Given the description of an element on the screen output the (x, y) to click on. 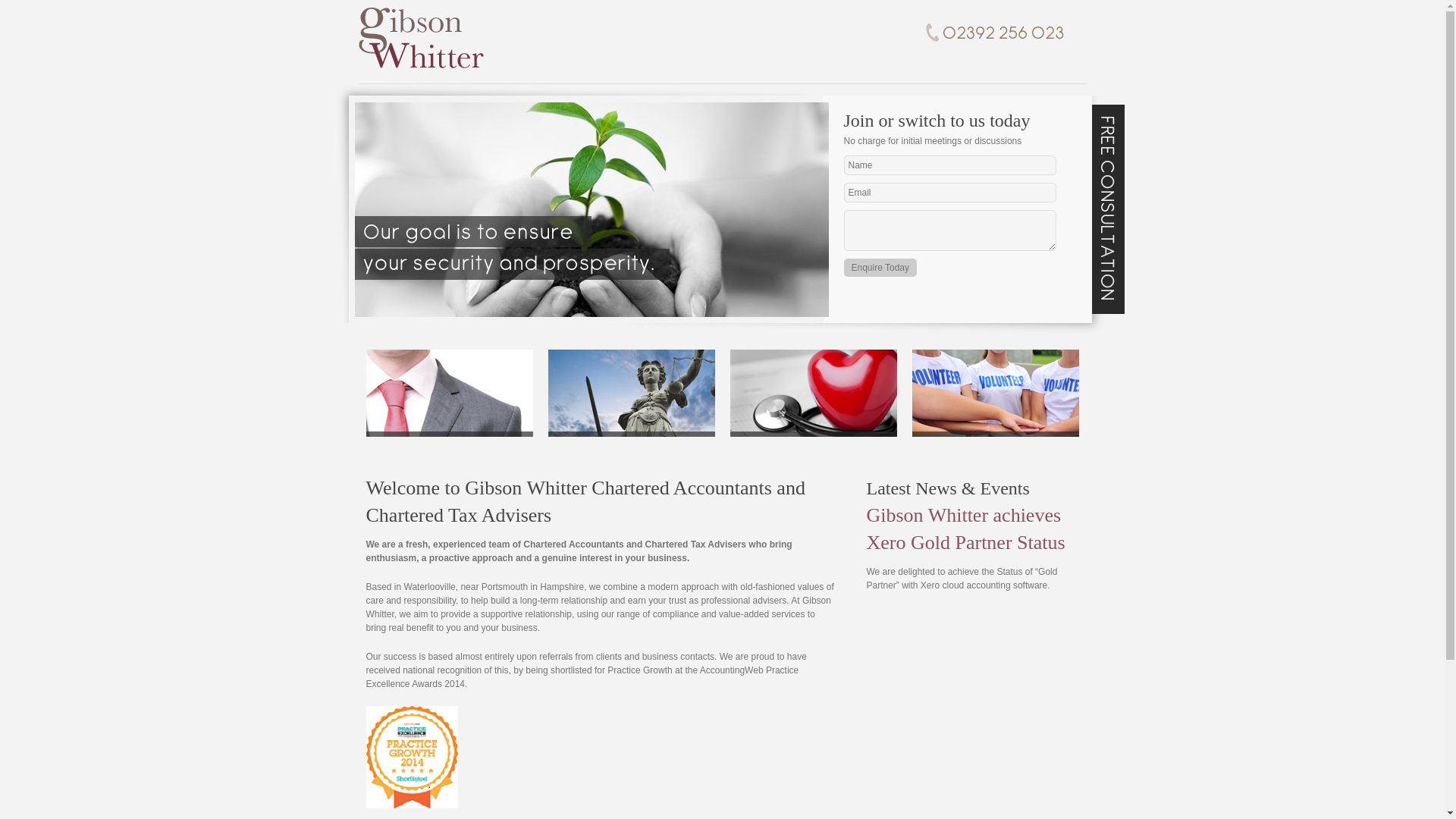
img1 (591, 209)
Enquire Today (880, 267)
Enquire Today (880, 267)
Gibson Whitter achieves Xero Gold Partner Status (965, 528)
